Given the description of an element on the screen output the (x, y) to click on. 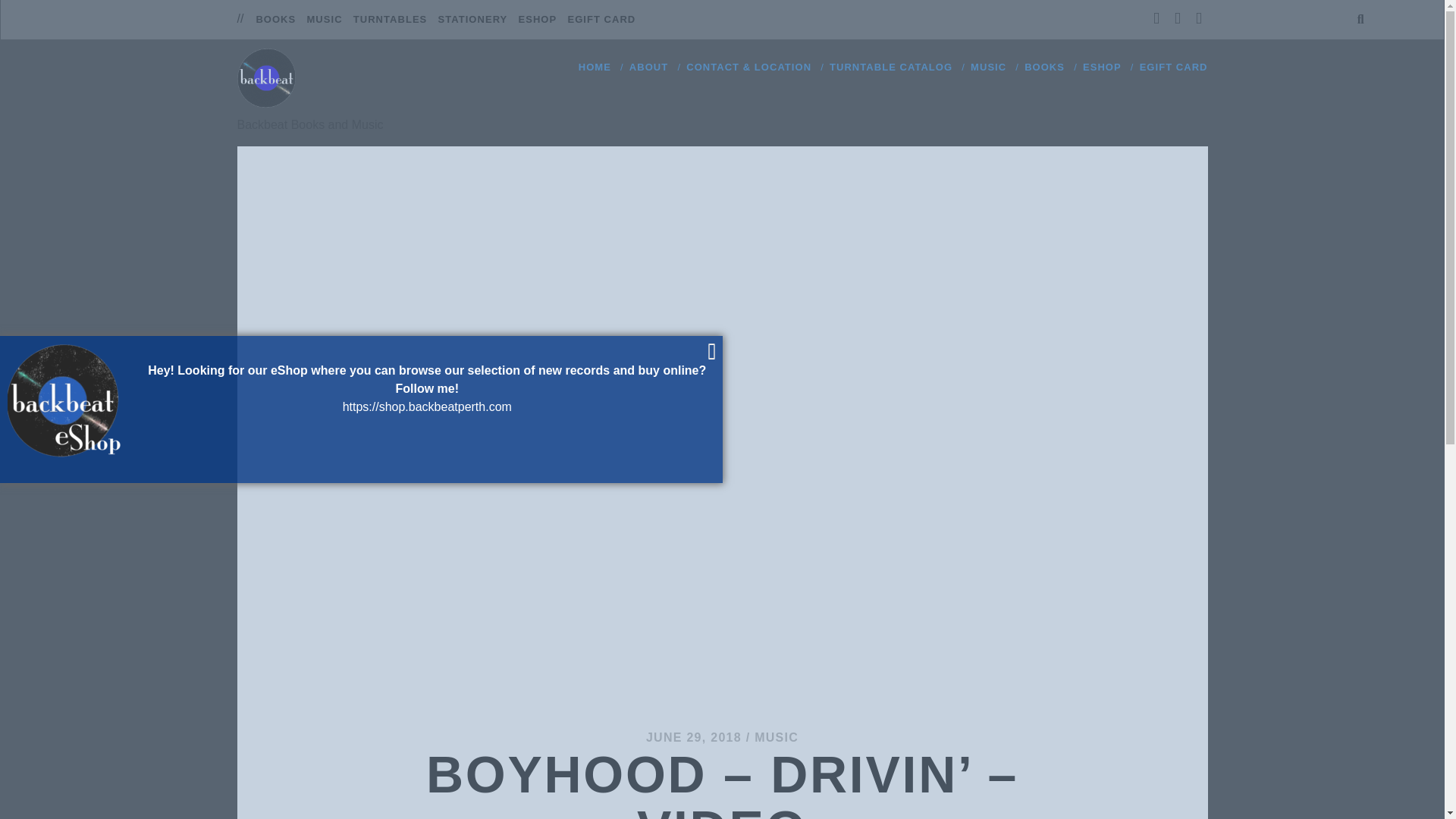
STATIONERY (473, 19)
EGIFT CARD (600, 19)
MUSIC (988, 67)
ESHOP (537, 19)
HOME (594, 67)
ABOUT (648, 67)
TURNTABLE CATALOG (890, 67)
MUSIC (775, 737)
BOOKS (275, 19)
EGIFT CARD (1174, 67)
